Given the description of an element on the screen output the (x, y) to click on. 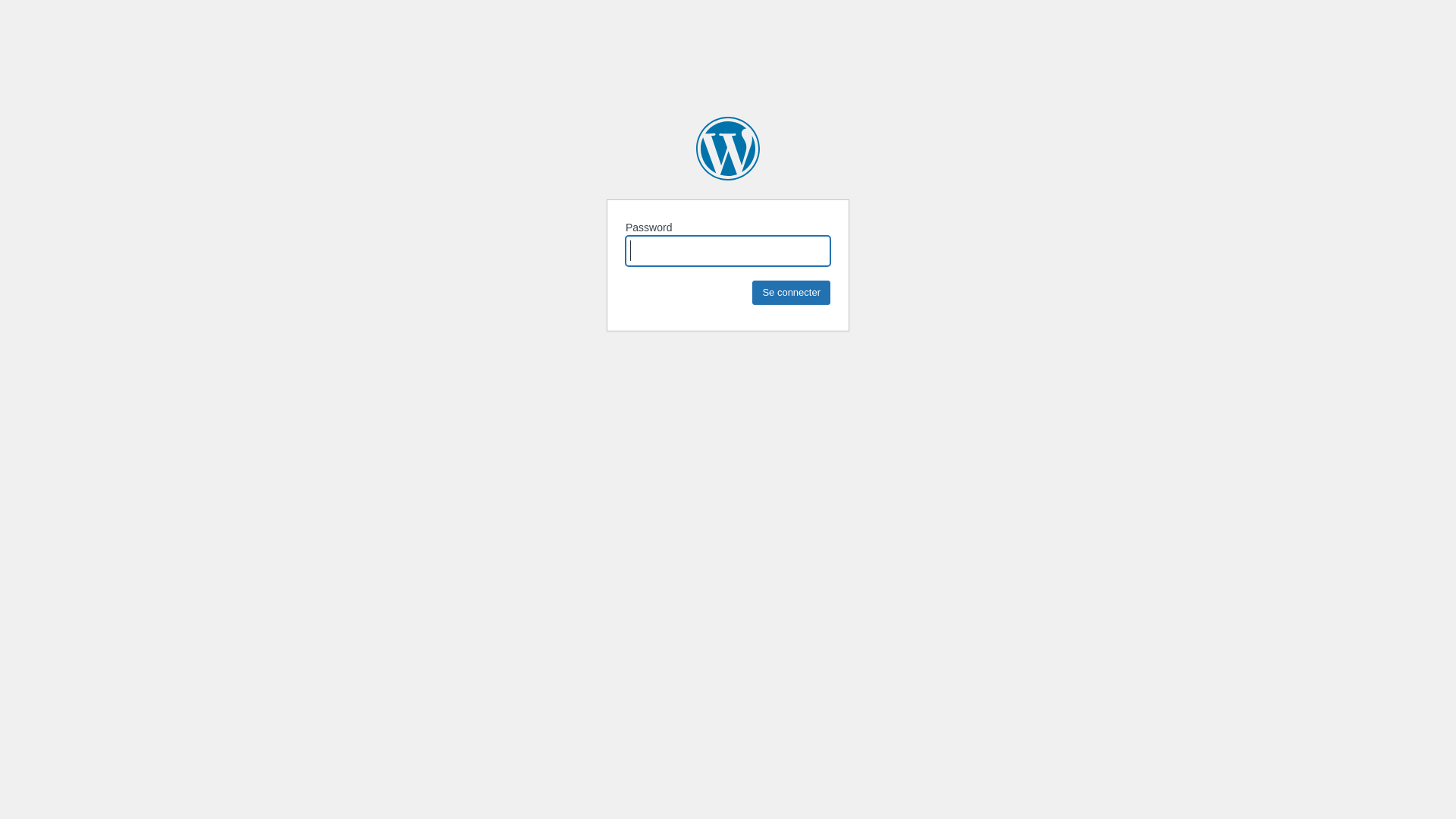
FGTB Bruxelles 2020 Element type: text (727, 148)
Se connecter Element type: text (791, 292)
